Given the description of an element on the screen output the (x, y) to click on. 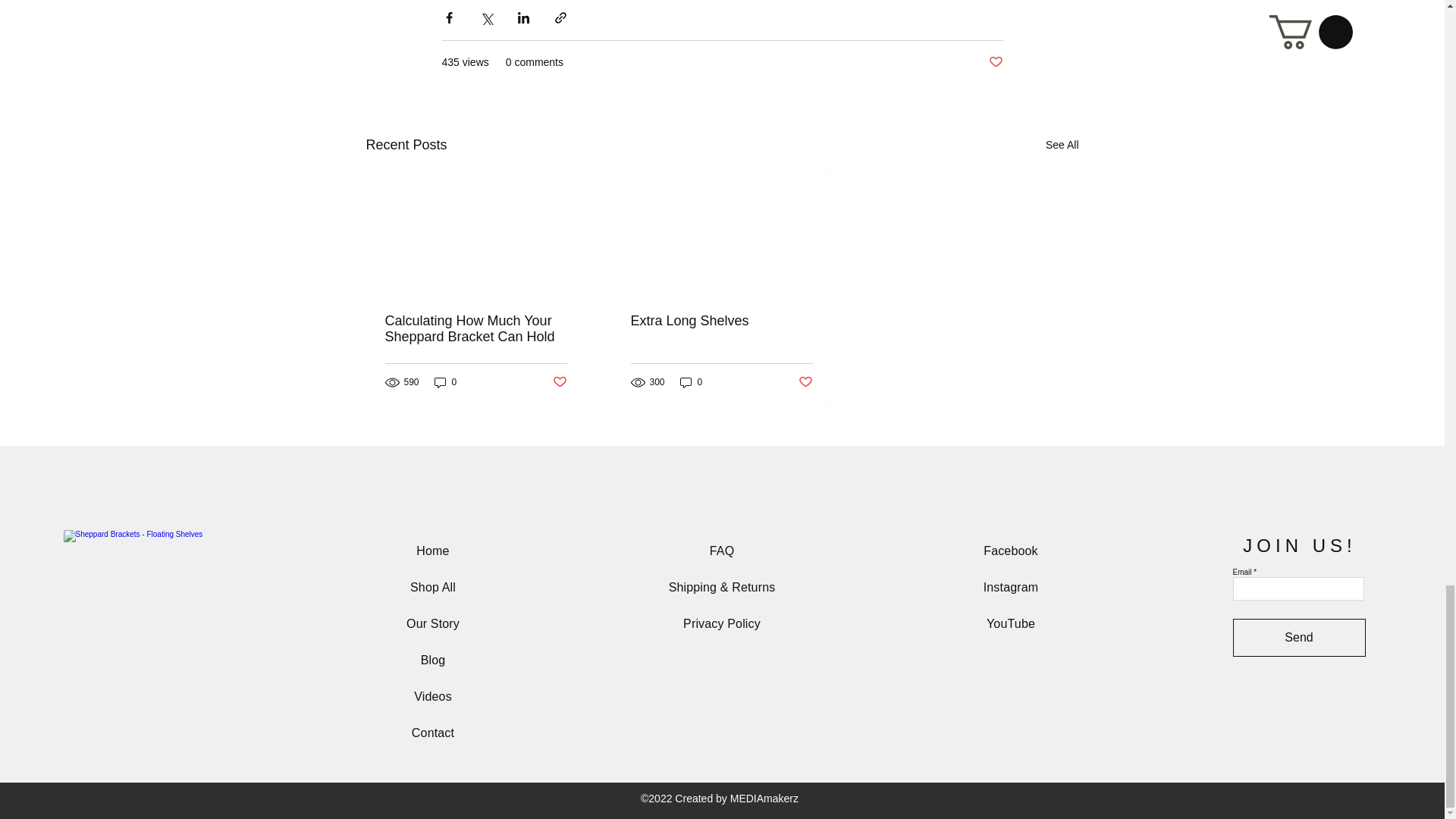
Our Story (433, 623)
Post not marked as liked (558, 382)
Post not marked as liked (804, 382)
Extra Long Shelves (721, 320)
Calculating How Much Your Sheppard Bracket Can Hold (476, 328)
0 (445, 382)
0 (691, 382)
Home (432, 550)
See All (1061, 145)
Post not marked as liked (995, 62)
